Given the description of an element on the screen output the (x, y) to click on. 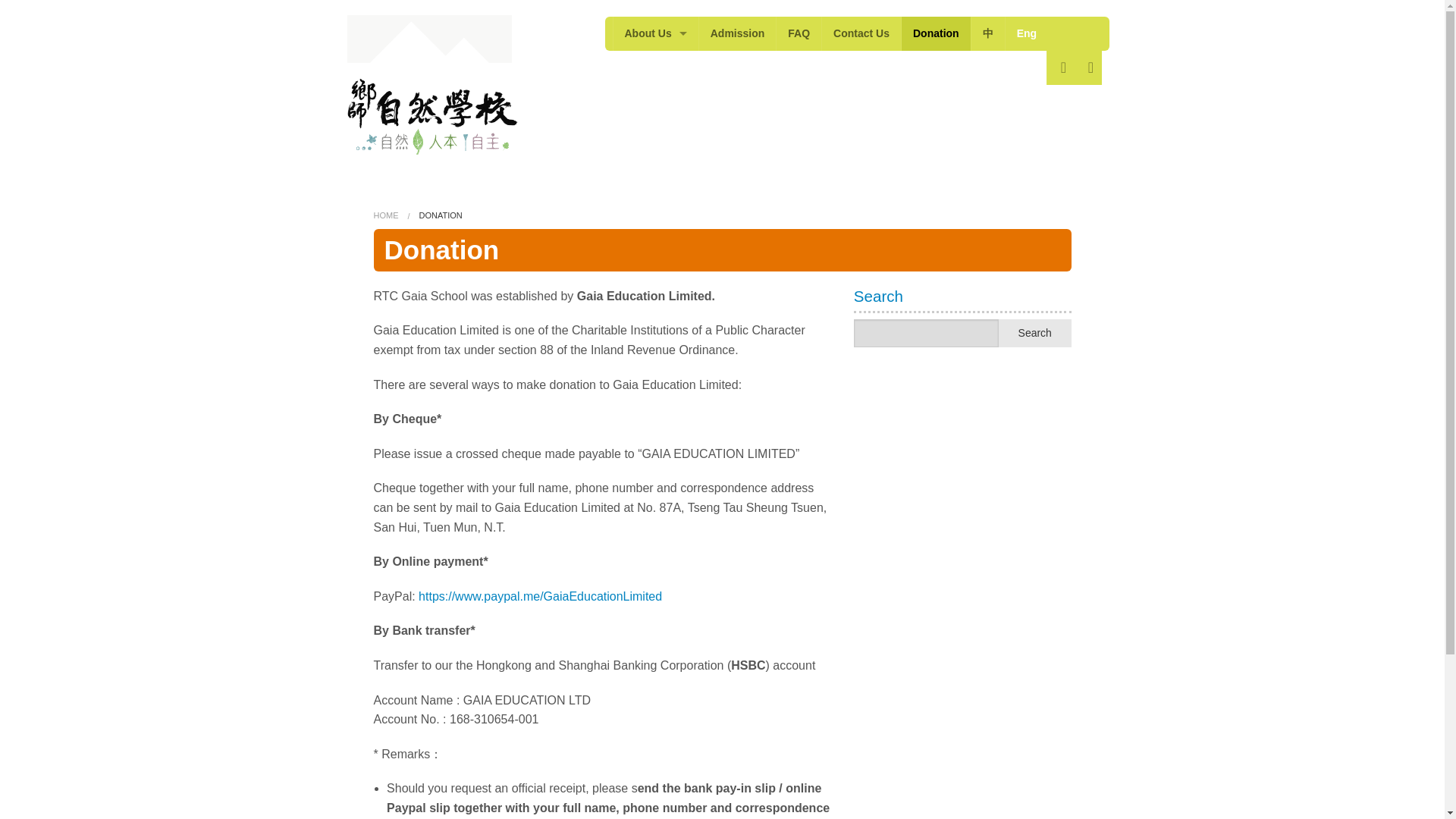
Origin (654, 101)
HOME (384, 215)
Vision and Belief (654, 135)
About Us (654, 33)
FAQ (798, 33)
Search (1034, 333)
Admission (737, 33)
Contact Us (861, 33)
Eng (1027, 33)
Gaia Education Limited (654, 67)
